Given the description of an element on the screen output the (x, y) to click on. 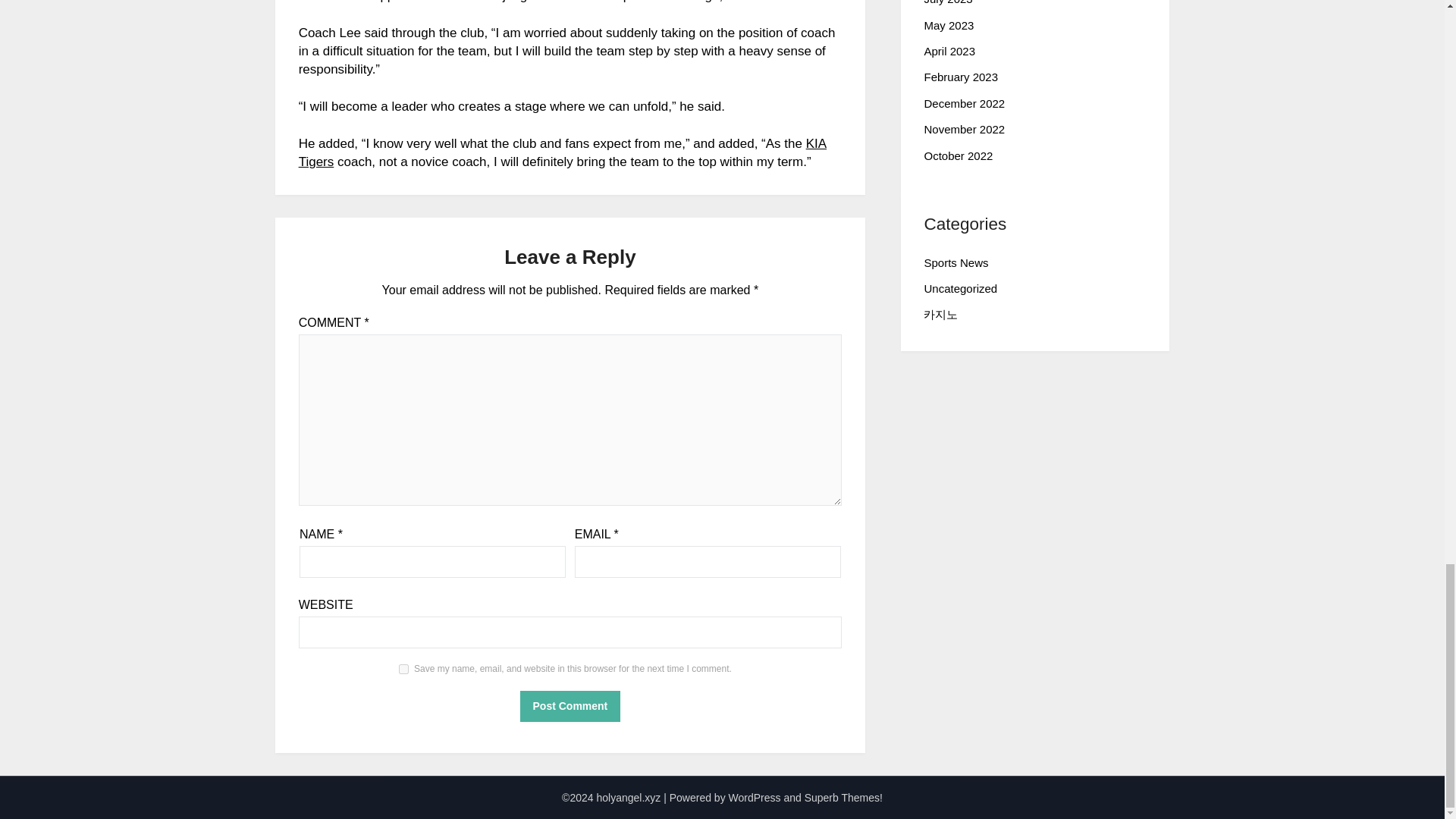
Post Comment (570, 706)
yes (403, 669)
Post Comment (570, 706)
KIA Tigers (562, 152)
